Given the description of an element on the screen output the (x, y) to click on. 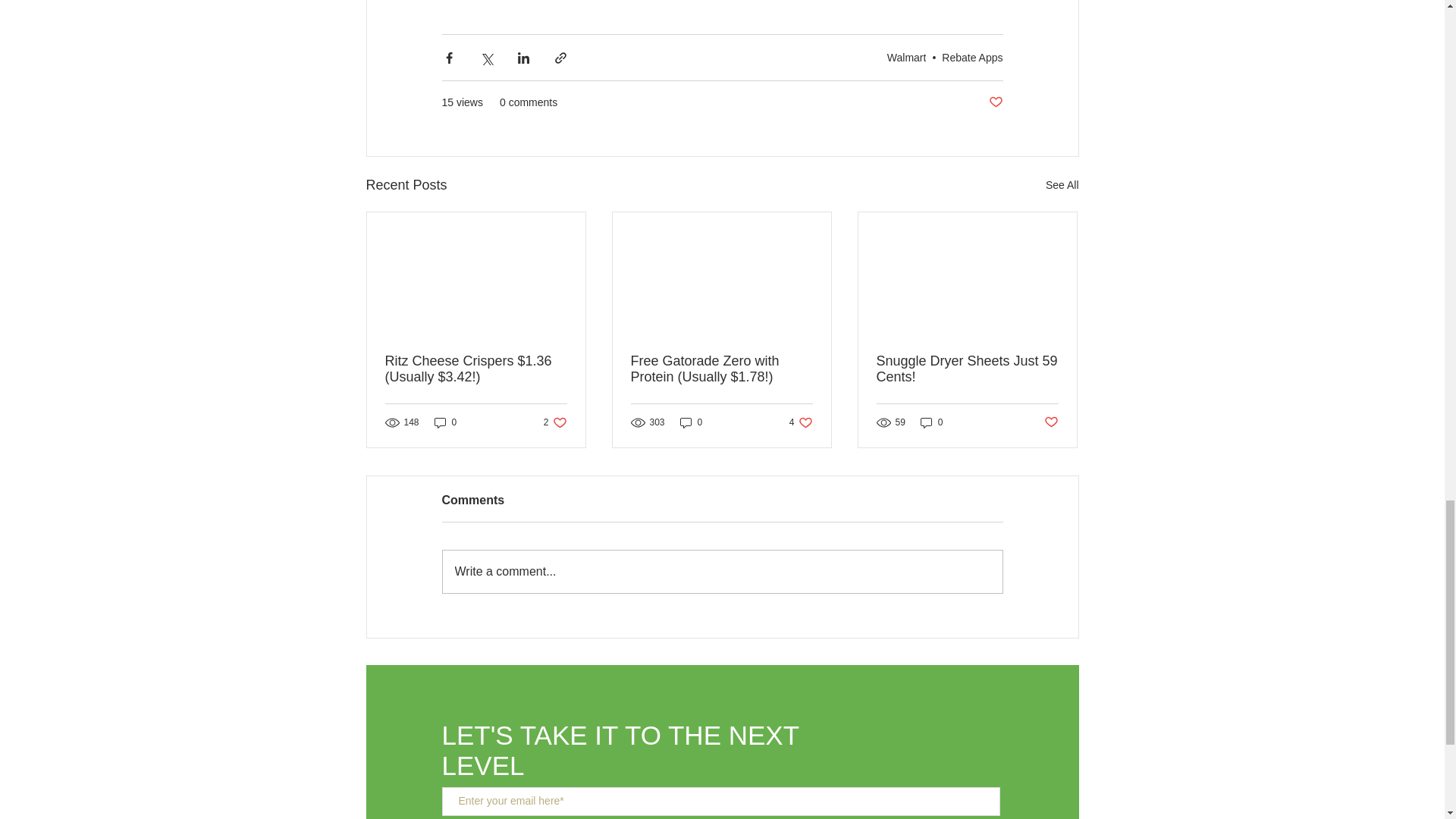
0 (445, 422)
Walmart (906, 57)
Rebate Apps (555, 422)
Post not marked as liked (972, 57)
See All (995, 102)
